Given the description of an element on the screen output the (x, y) to click on. 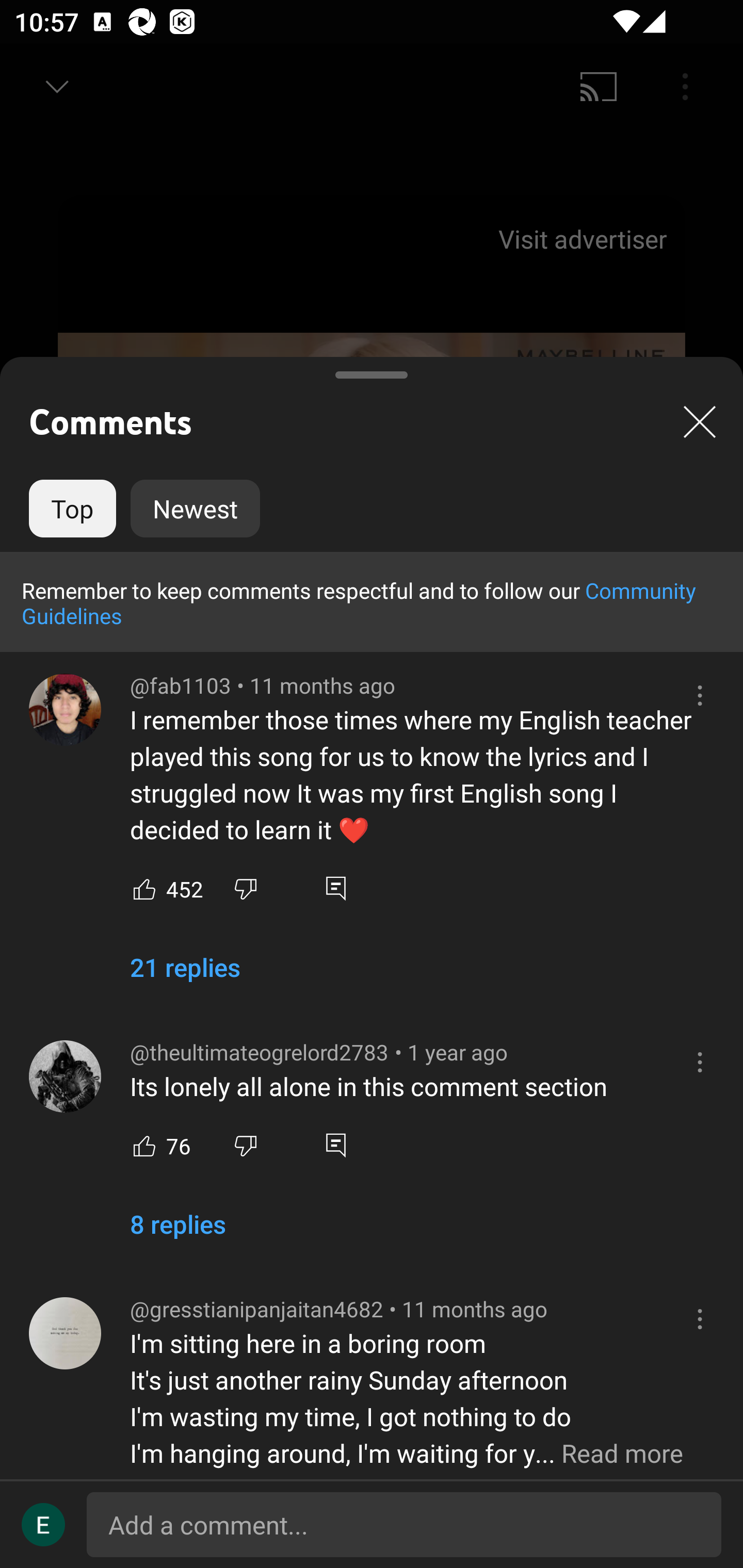
Minimize (57, 86)
Cast. Disconnected (598, 86)
Menu (684, 86)
Visit advertiser (586, 239)
Close (699, 421)
Top (71, 508)
Newest (195, 508)
Action menu (699, 695)
@fab1103 (64, 710)
Like this comment along with 452 other people (144, 888)
Dislike this comment (245, 888)
Reply (335, 888)
View 21 total replies (185, 975)
Action menu (699, 1062)
@theultimateogrelord2783 (64, 1076)
Like this comment along with 76 other people (144, 1145)
Dislike this comment (245, 1145)
Reply (335, 1145)
View 8 total replies (177, 1231)
Action menu (699, 1318)
@gresstianipanjaitan4682 (64, 1332)
